Given the description of an element on the screen output the (x, y) to click on. 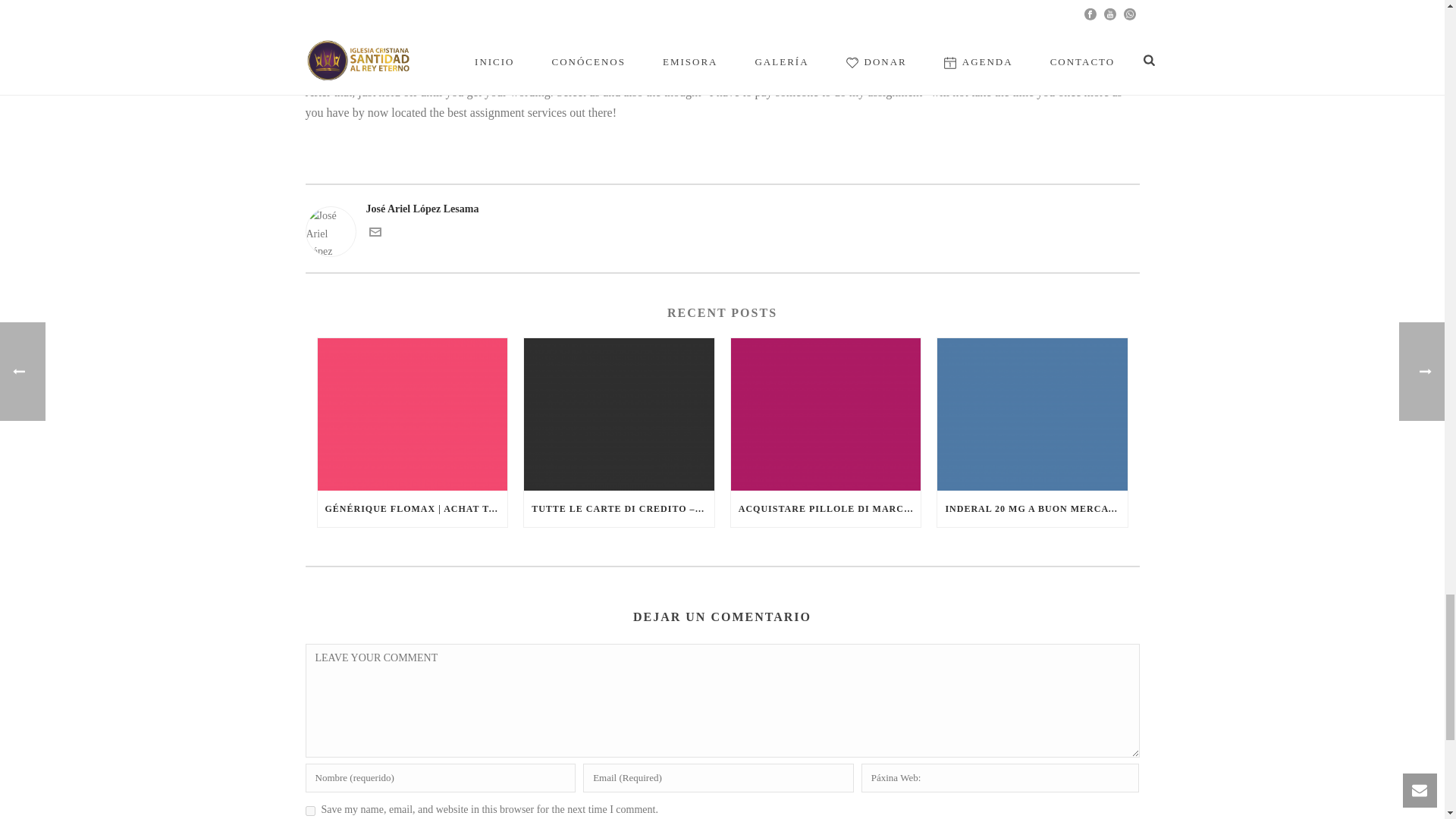
yes (309, 810)
Acquistare Pillole Di Marca Kamagra (825, 414)
Get in touch with me via email (374, 234)
Inderal 20 mg A Buon Mercato In Piemonte (1031, 414)
